Given the description of an element on the screen output the (x, y) to click on. 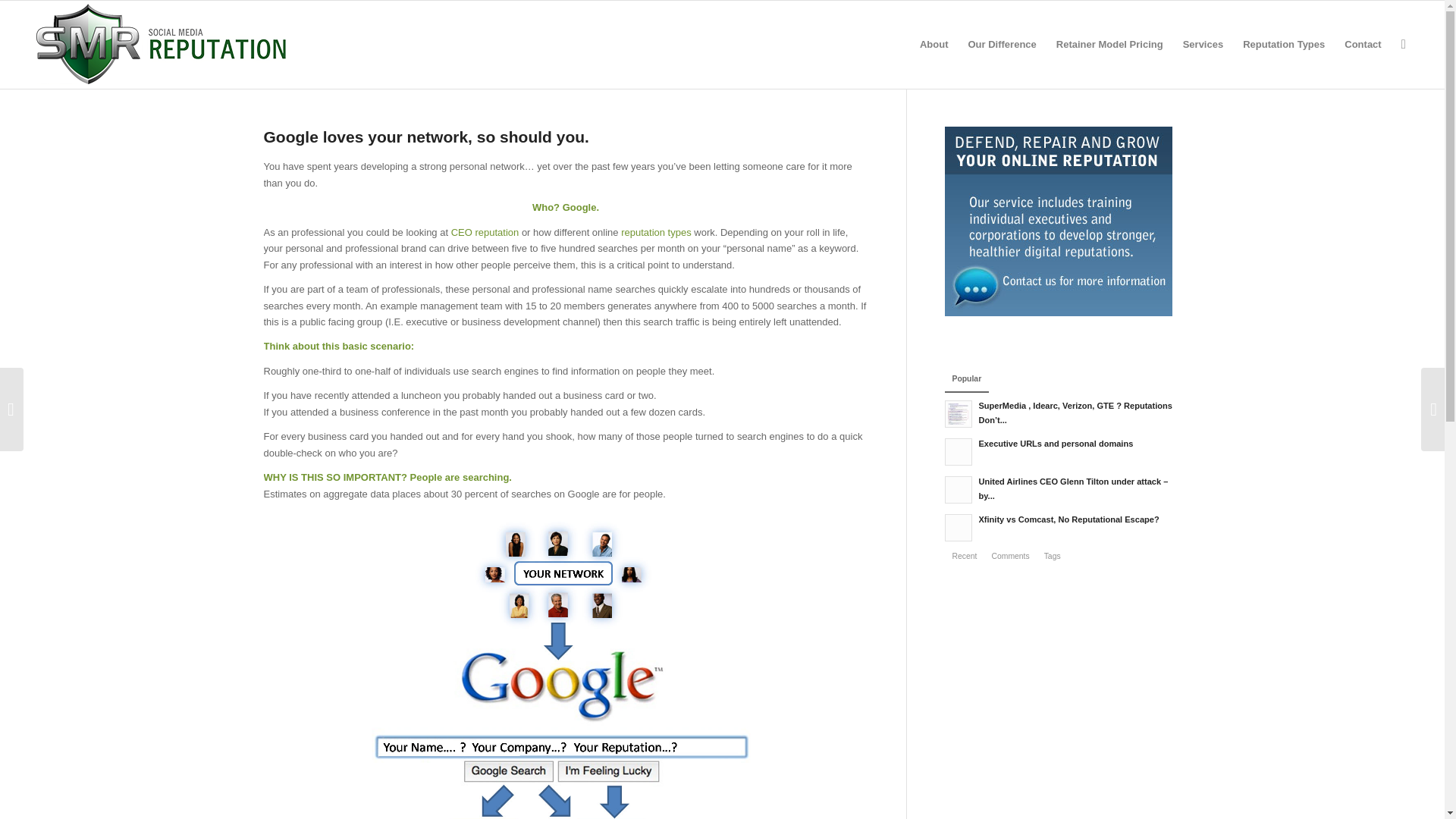
Executive URLs and personal domains (1062, 450)
Retainer Model Pricing (1109, 44)
social-media-reputation-horiz (161, 43)
Reputation Types (1284, 44)
Our Difference (1001, 44)
reputation types (656, 232)
CEO reputation (485, 232)
Executive URLs and personal domains (1062, 450)
ceo reputation (485, 232)
socialmediareputation (565, 664)
